Given the description of an element on the screen output the (x, y) to click on. 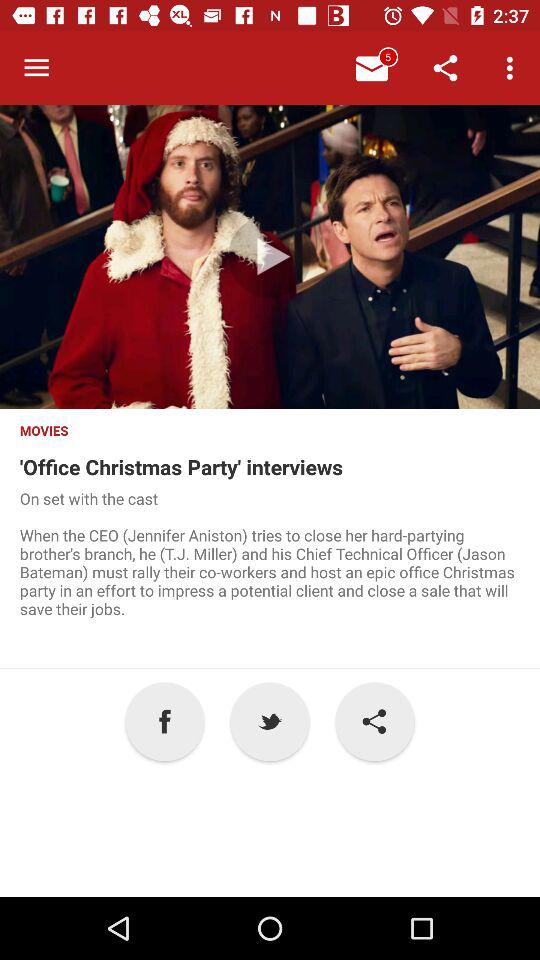
choose the ! item (374, 721)
